Given the description of an element on the screen output the (x, y) to click on. 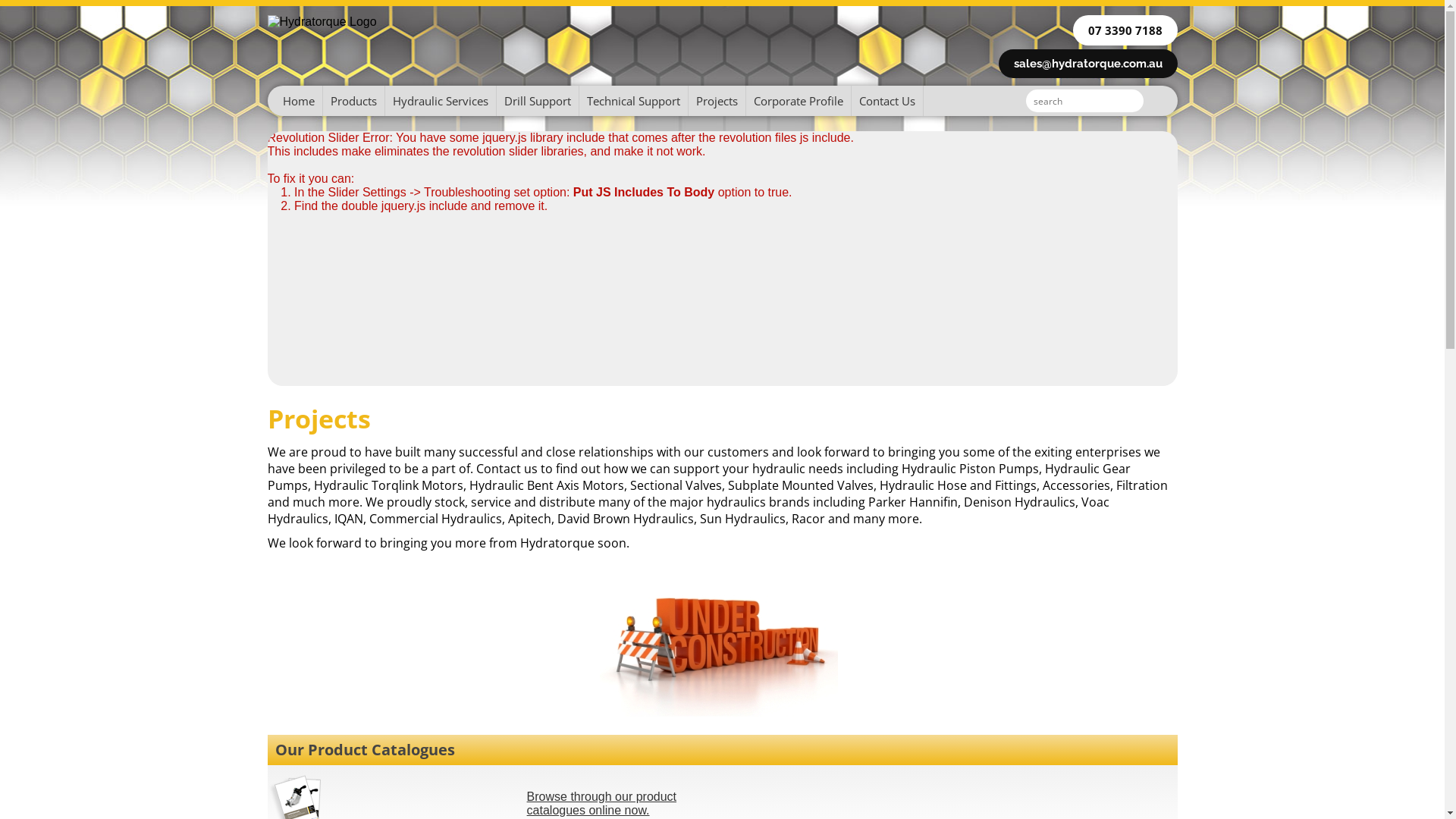
Home Element type: text (294, 100)
Projects Element type: text (717, 100)
Technical Support Element type: text (633, 100)
Products Element type: text (354, 100)
Corporate Profile Element type: text (798, 100)
07 3390 7188 Element type: text (1124, 30)
Hydraulic Services Element type: text (440, 100)
Browse through our product
catalogues online now. Element type: text (601, 803)
Contact Us Element type: text (886, 100)
Drill Support Element type: text (536, 100)
sales@hydratorque.com.au Element type: text (1086, 63)
Hydratorque Logo Element type: hover (321, 21)
